Given the description of an element on the screen output the (x, y) to click on. 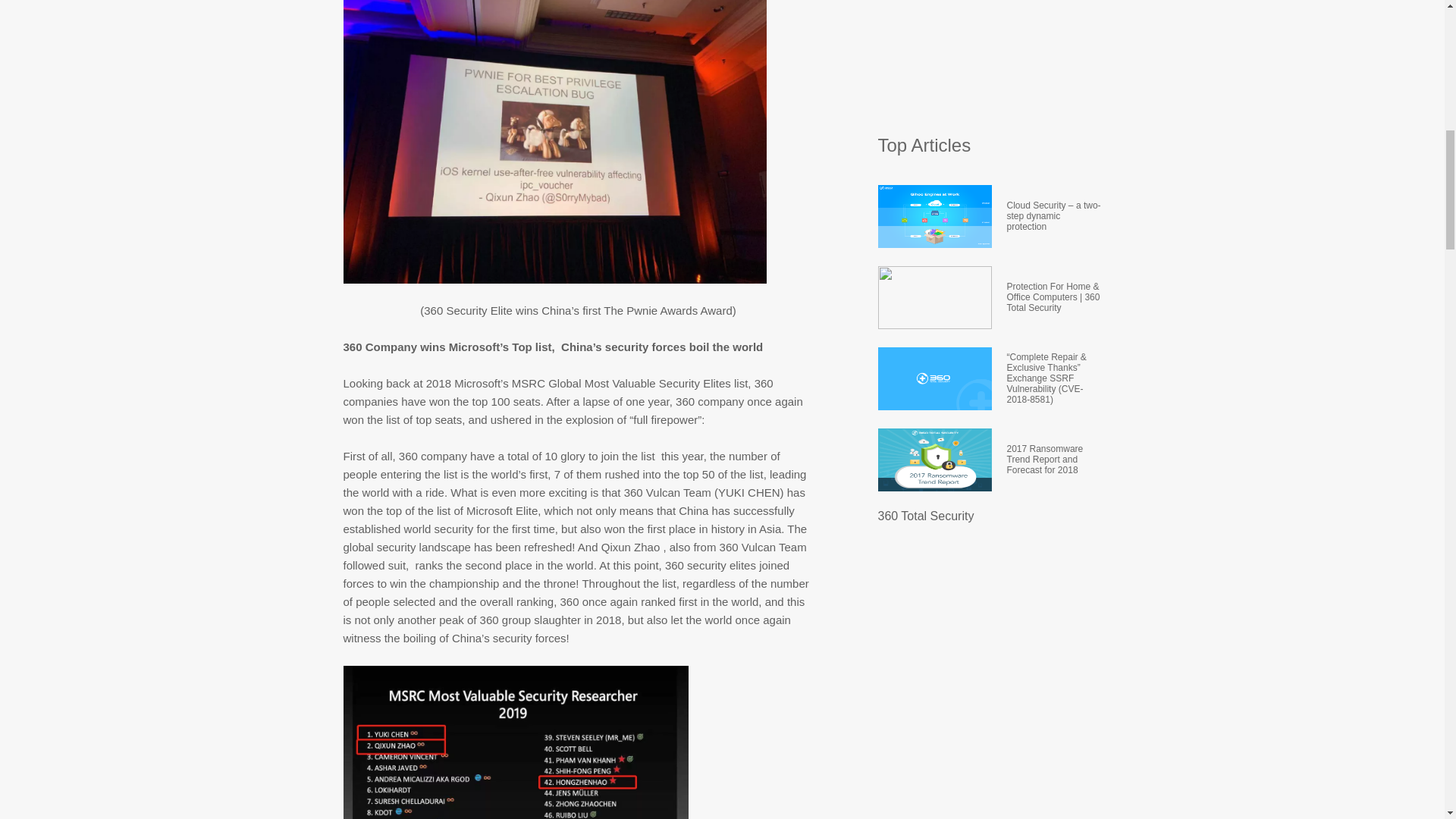
2017 Ransomware Trend Report and Forecast for 2018 (1054, 458)
Advertisement (991, 58)
